Given the description of an element on the screen output the (x, y) to click on. 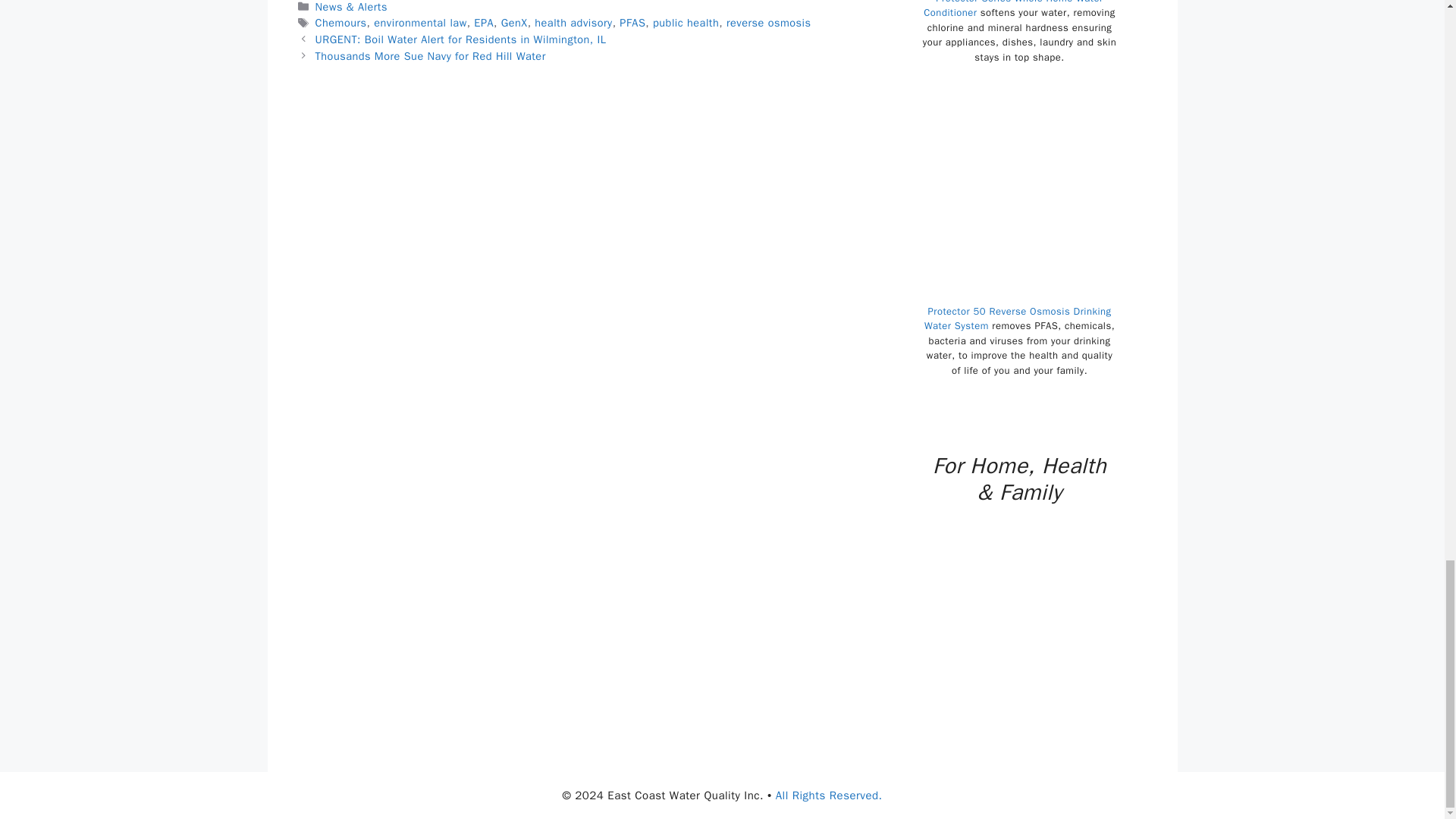
environmental law (419, 22)
Chemours (340, 22)
EPA (483, 22)
GenX (513, 22)
